Given the description of an element on the screen output the (x, y) to click on. 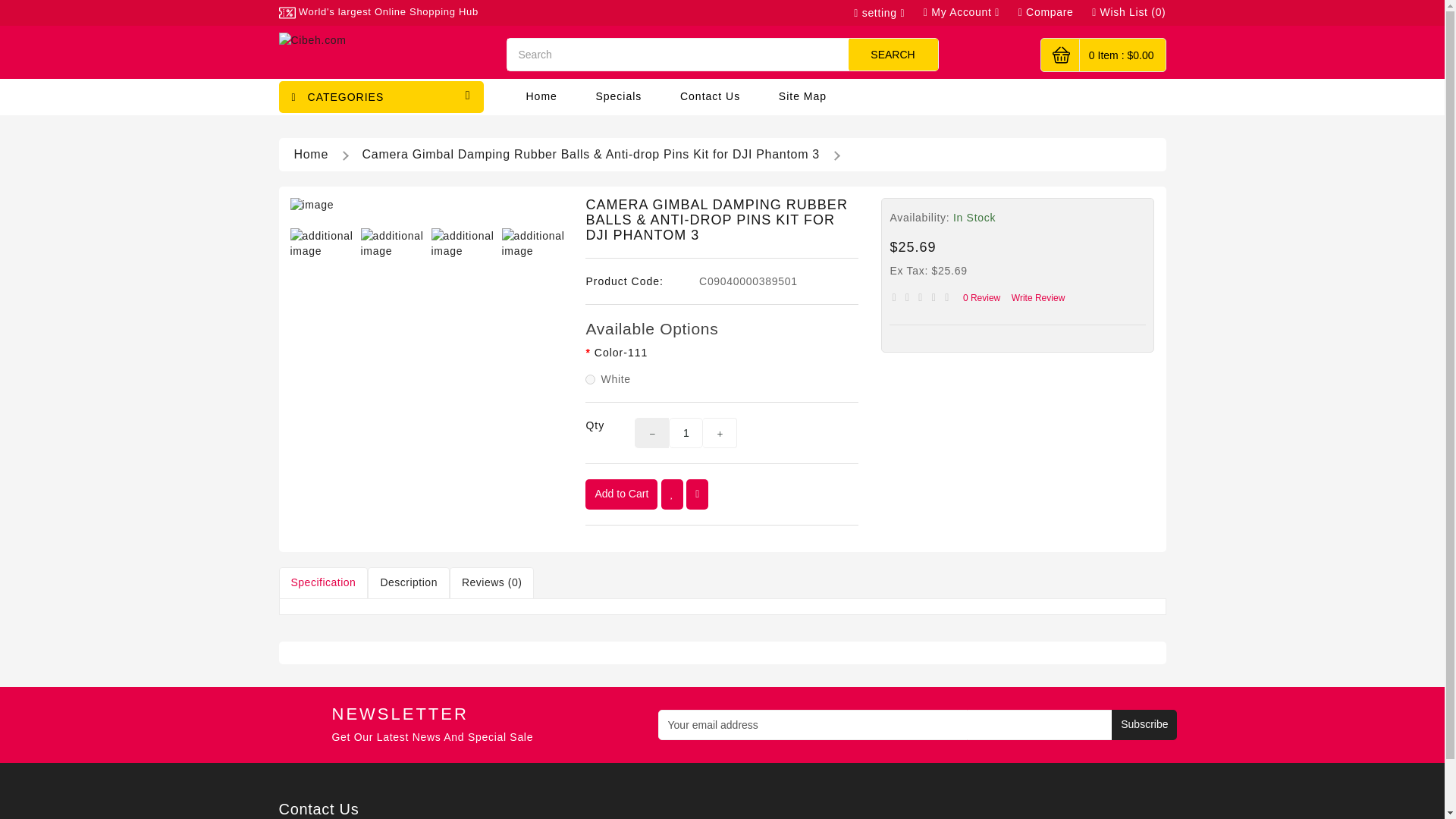
95 (590, 379)
Compare (1040, 12)
Compare this Product (696, 494)
My Account (878, 12)
Compare (1040, 12)
Add to Wish List (671, 494)
CATEGORIES (381, 97)
Your email address (912, 725)
setting (878, 12)
My Account (955, 12)
SEARCH (892, 54)
Cibeh.com (381, 39)
My Account (955, 12)
1 (685, 432)
